Given the description of an element on the screen output the (x, y) to click on. 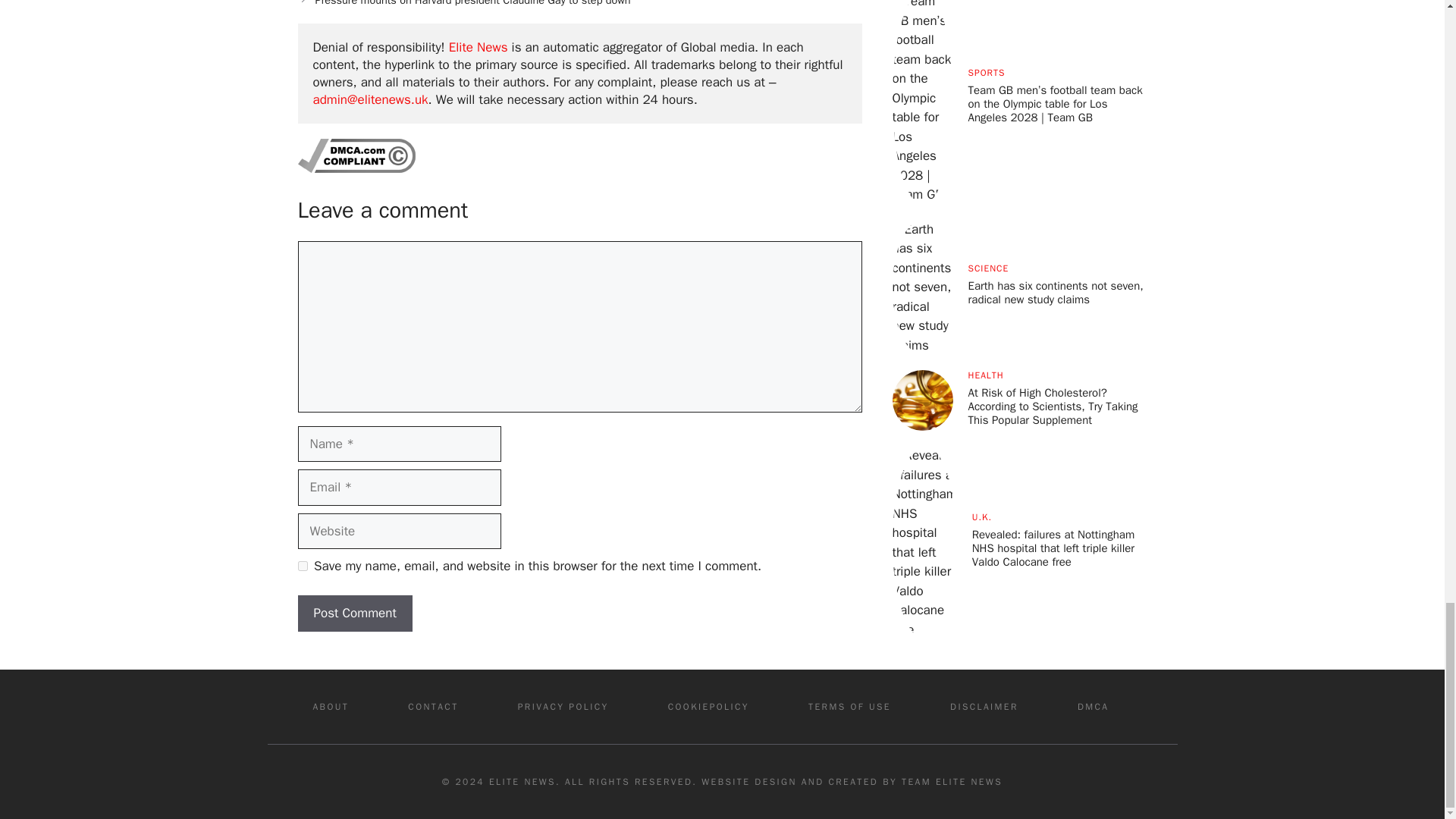
Post Comment (354, 613)
Post Comment (354, 613)
Elite News (478, 47)
yes (302, 565)
